Given the description of an element on the screen output the (x, y) to click on. 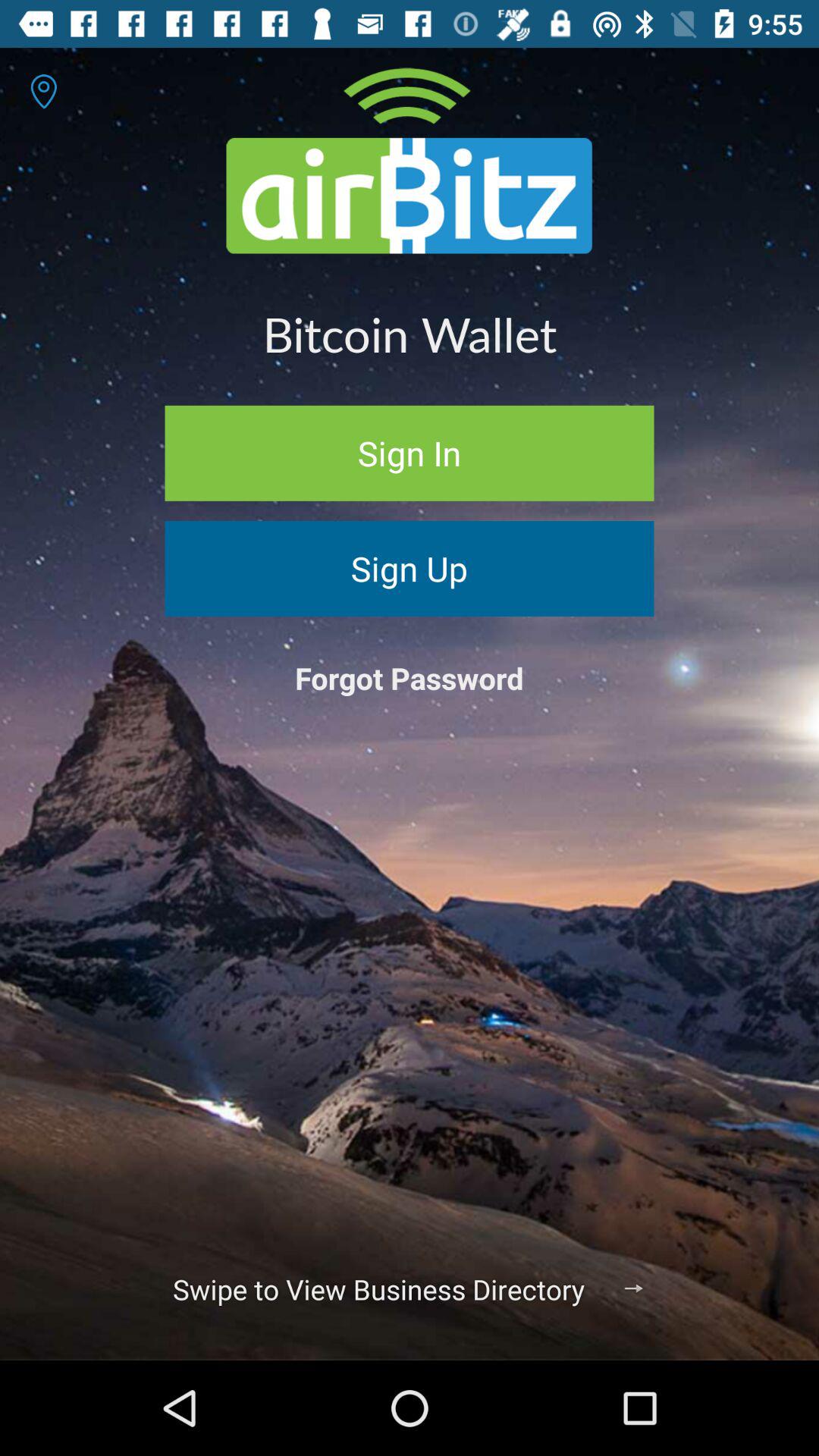
select icon above the bitcoin wallet (409, 160)
